Given the description of an element on the screen output the (x, y) to click on. 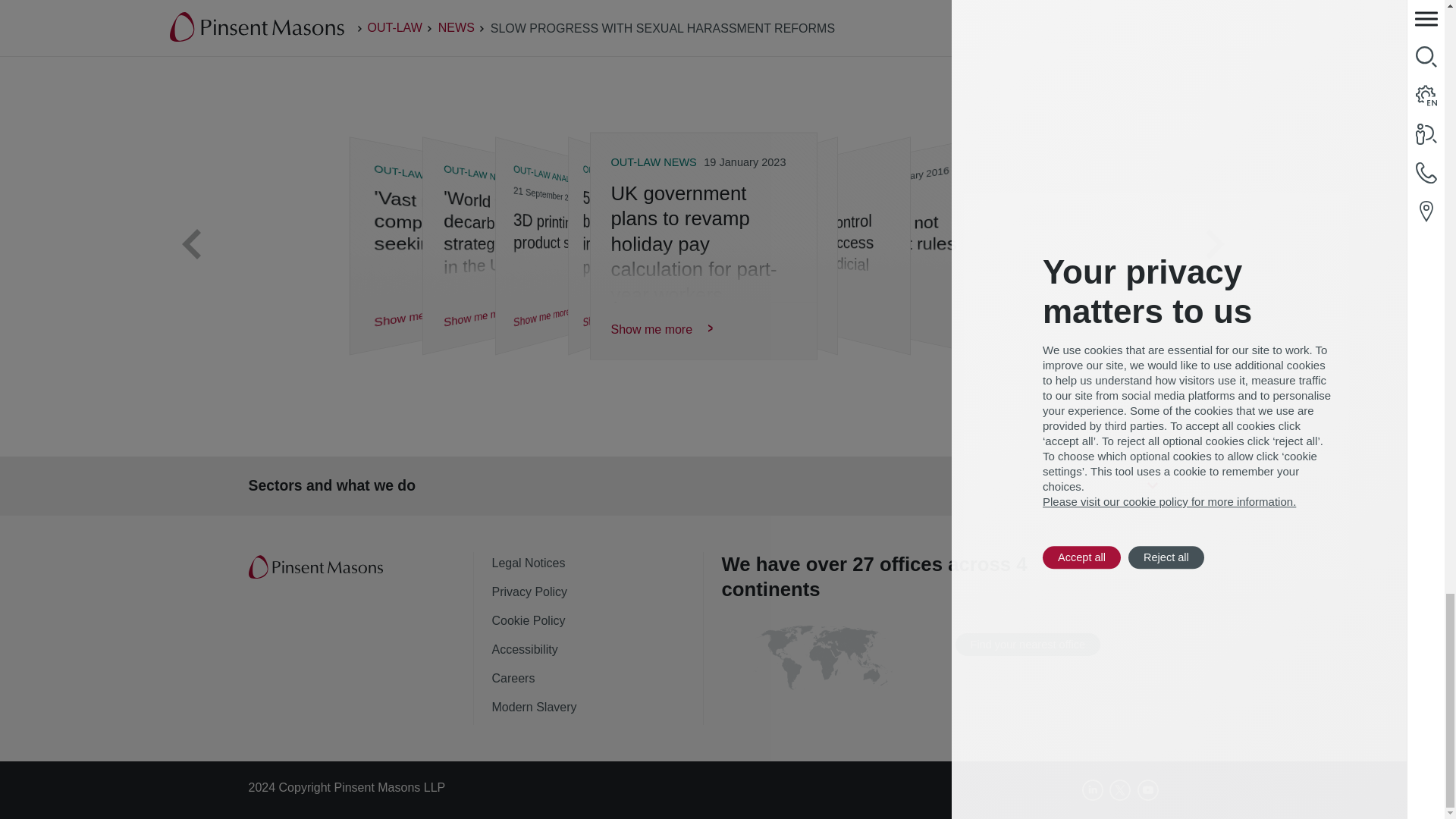
Pinsent Masons (316, 567)
Pinsent Masons Twitter (1120, 789)
Pinsent Masons LinkedIn (1092, 789)
